Given the description of an element on the screen output the (x, y) to click on. 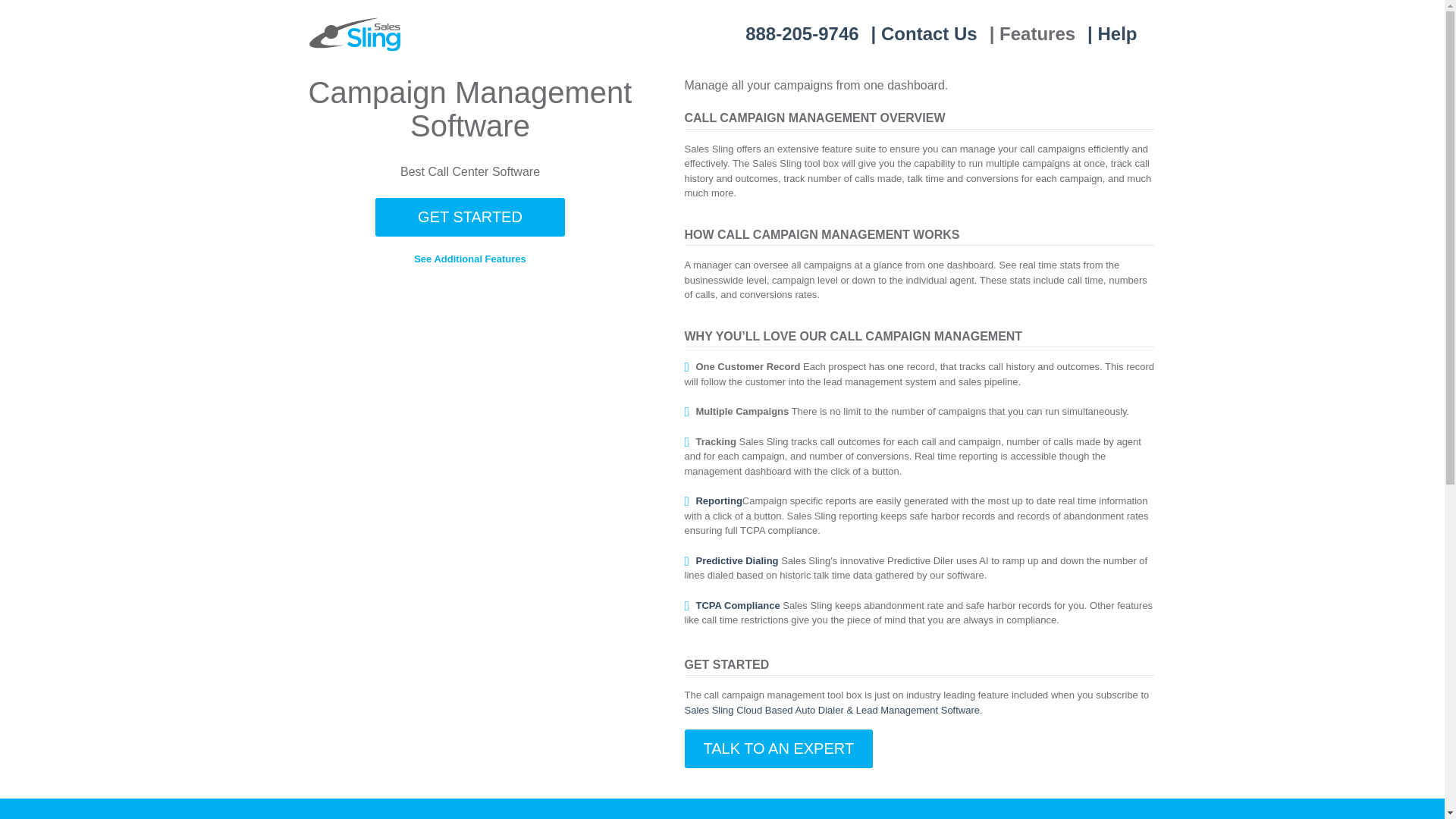
888-205-9746 (801, 33)
